Given the description of an element on the screen output the (x, y) to click on. 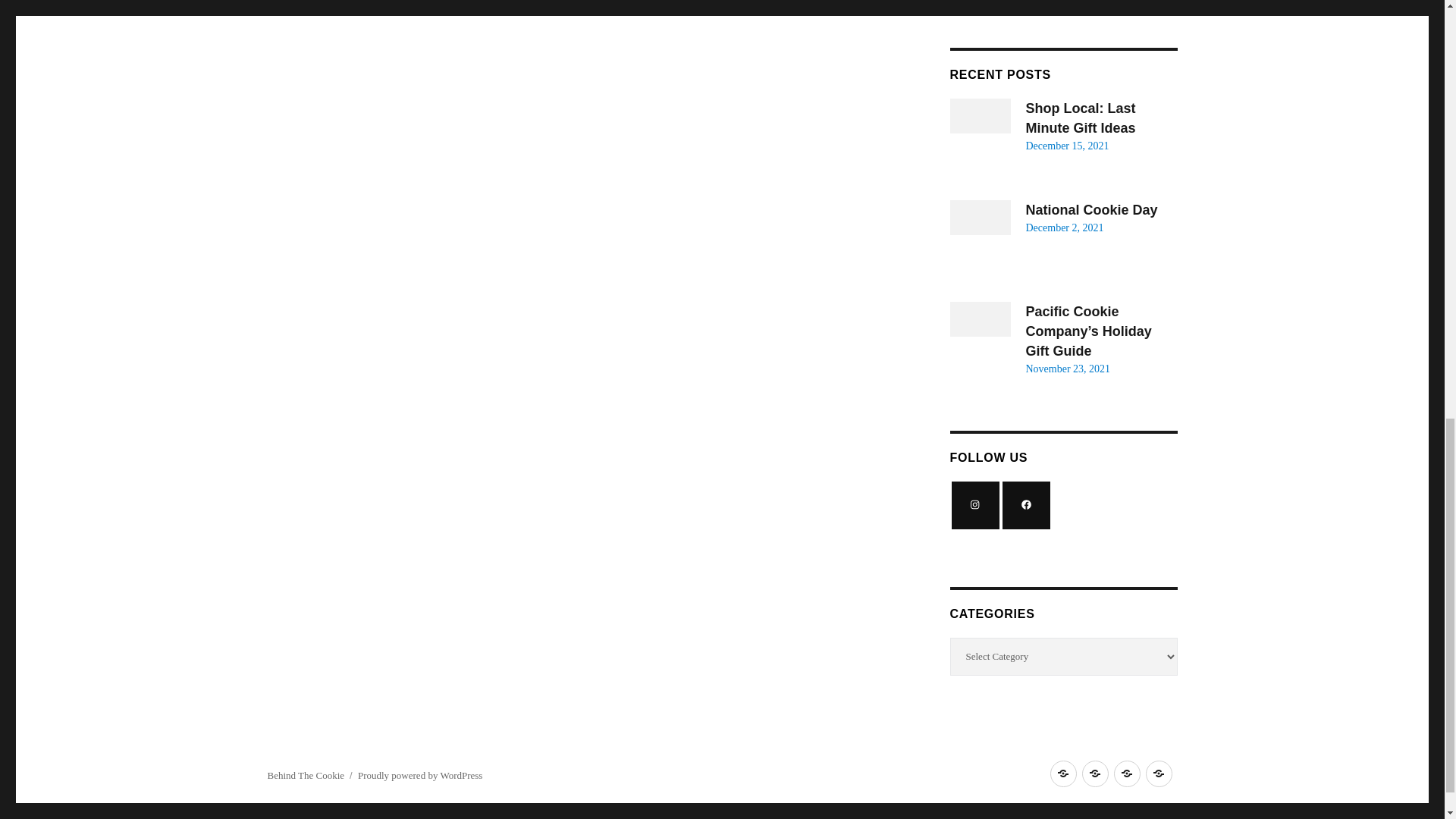
November 23, 2021 (1067, 368)
Shop Local: Last Minute Gift Ideas (1080, 117)
December 15, 2021 (1066, 145)
Tess (957, 1)
SEARCH (888, 5)
December 2, 2021 (1064, 227)
Shop (1094, 773)
Home (1062, 773)
Shop (1094, 773)
Contact Us (1126, 773)
National Cookie Day (1091, 209)
